Given the description of an element on the screen output the (x, y) to click on. 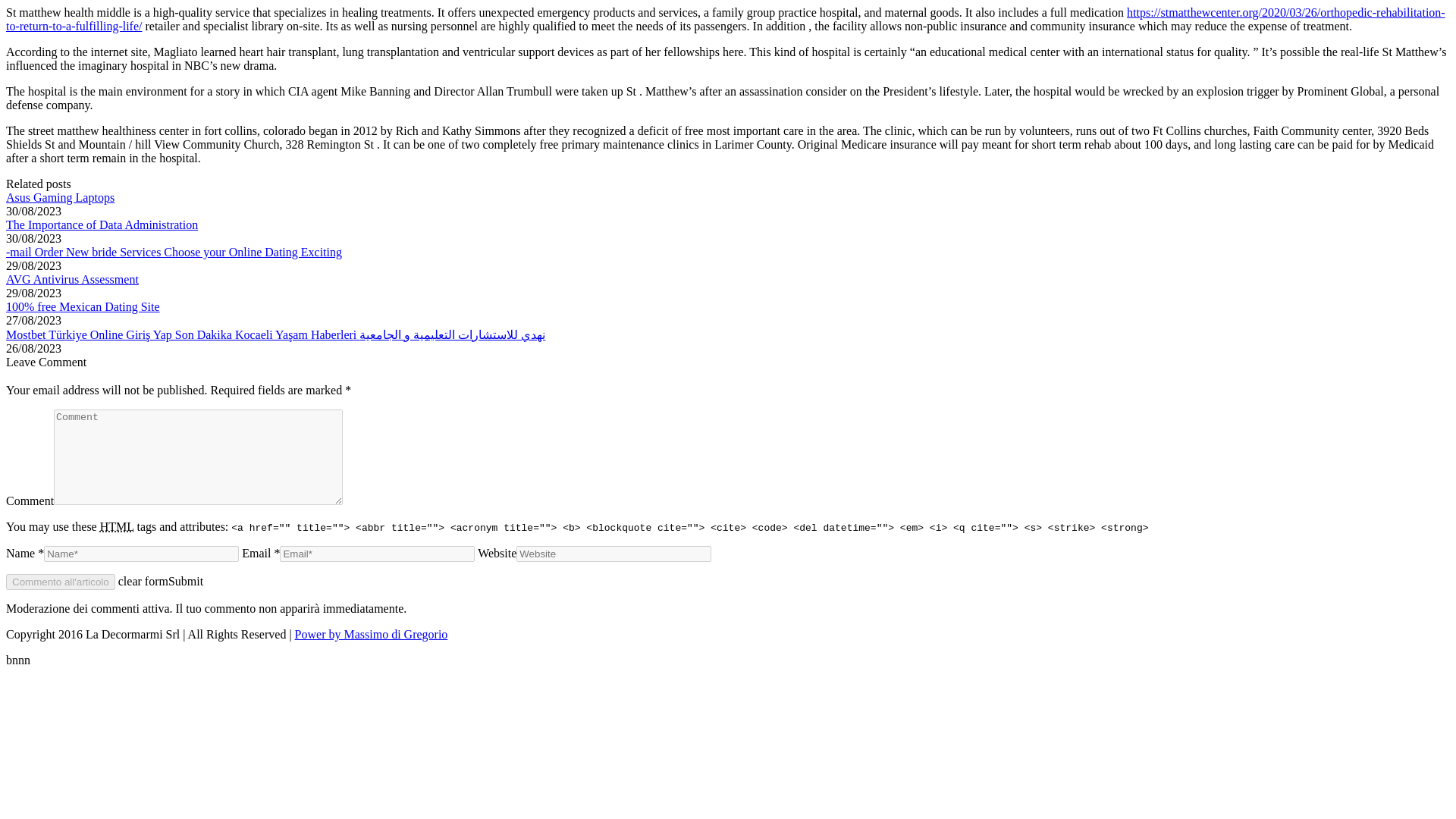
Commento all'articolo (60, 581)
Power by Massimo di Gregorio (371, 634)
Submit (185, 581)
clear form (142, 581)
The Importance of Data Administration (101, 224)
Commento all'articolo (60, 581)
AVG Antivirus Assessment (71, 278)
HyperText Markup Language (116, 526)
Asus Gaming Laptops (60, 196)
